Given the description of an element on the screen output the (x, y) to click on. 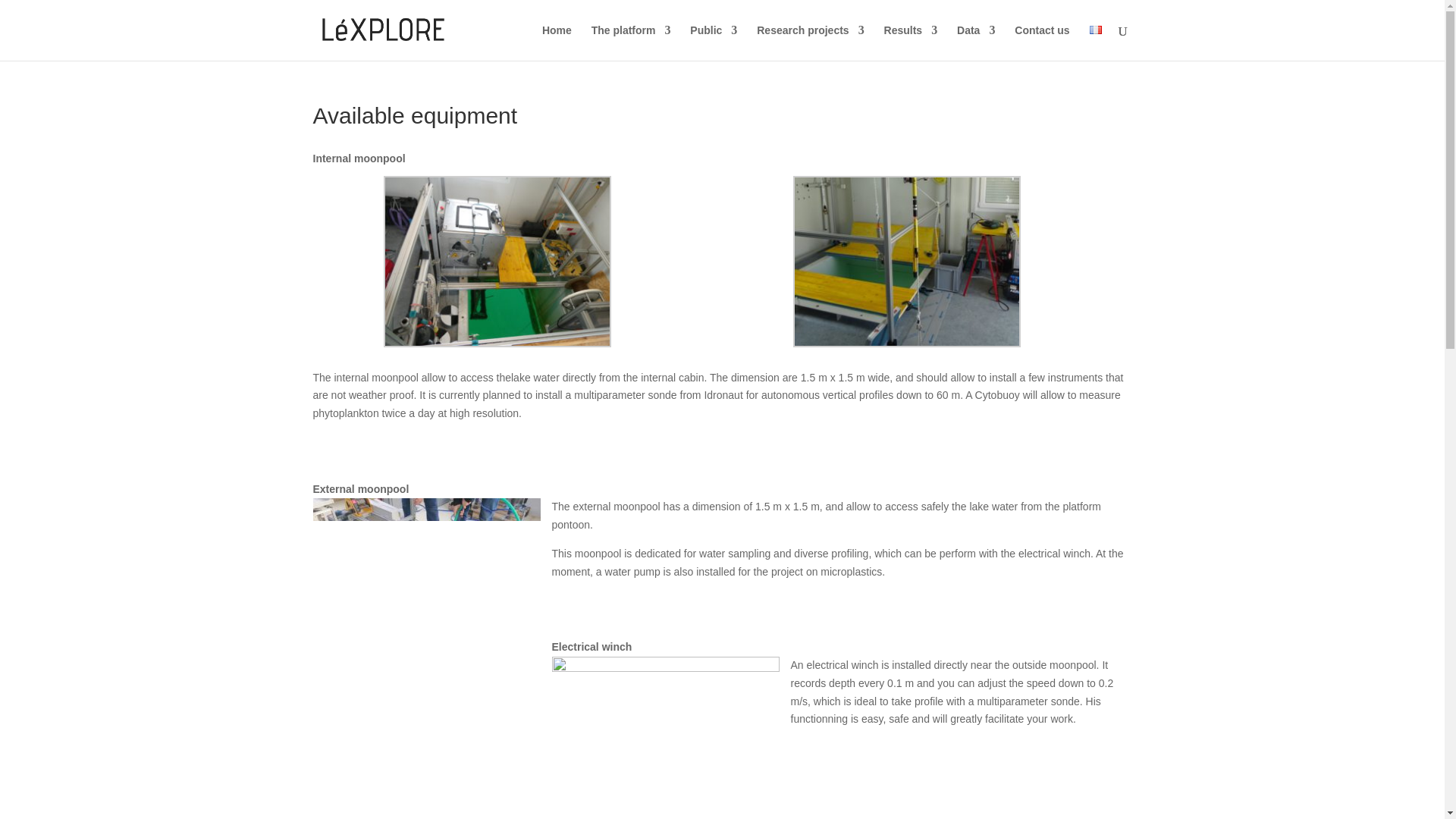
Research projects (810, 42)
Data (975, 42)
Contact us (1041, 42)
Results (910, 42)
The platform (631, 42)
Public (713, 42)
